Given the description of an element on the screen output the (x, y) to click on. 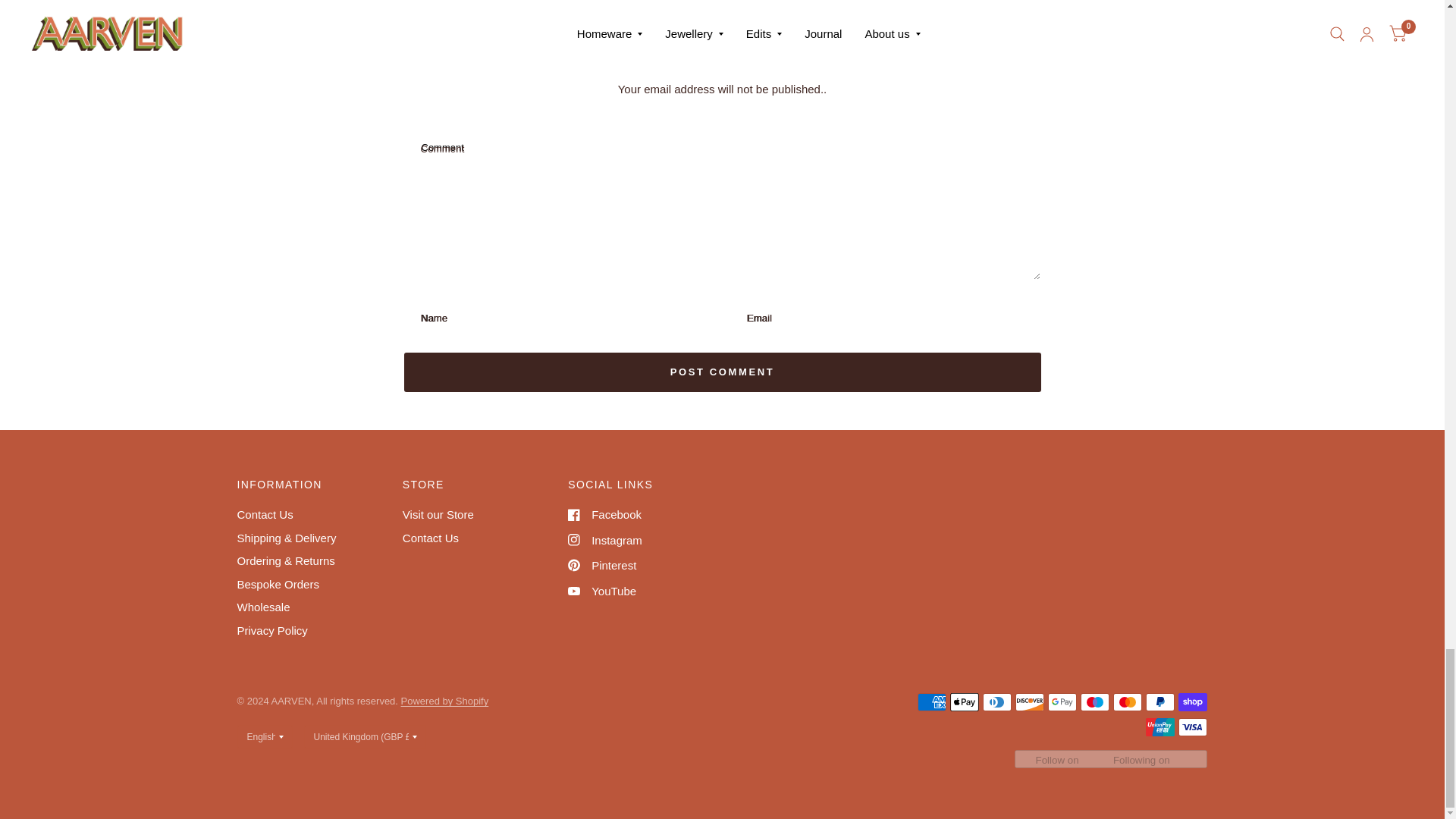
Post comment (722, 372)
